Given the description of an element on the screen output the (x, y) to click on. 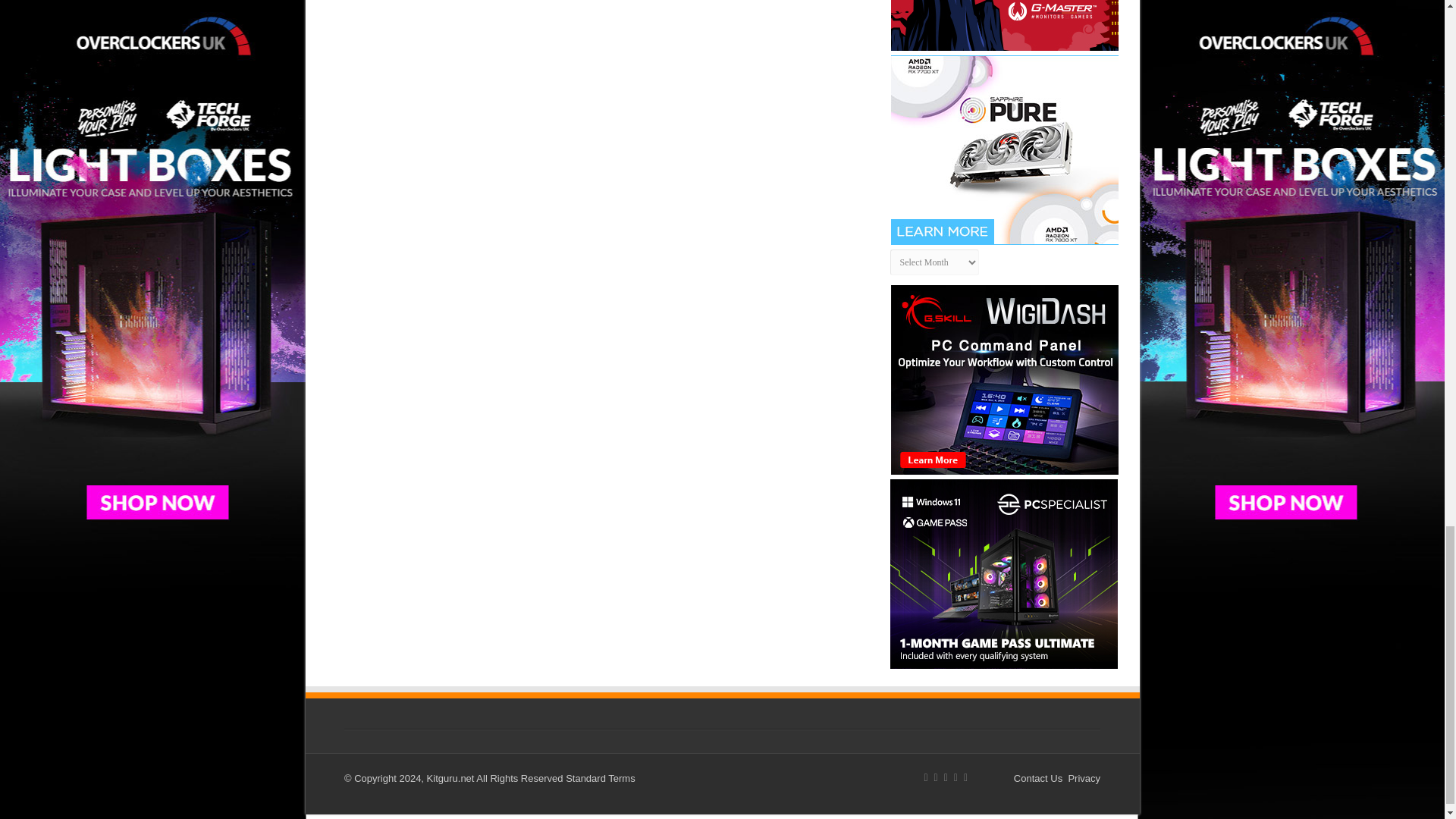
Rss (924, 778)
